Given the description of an element on the screen output the (x, y) to click on. 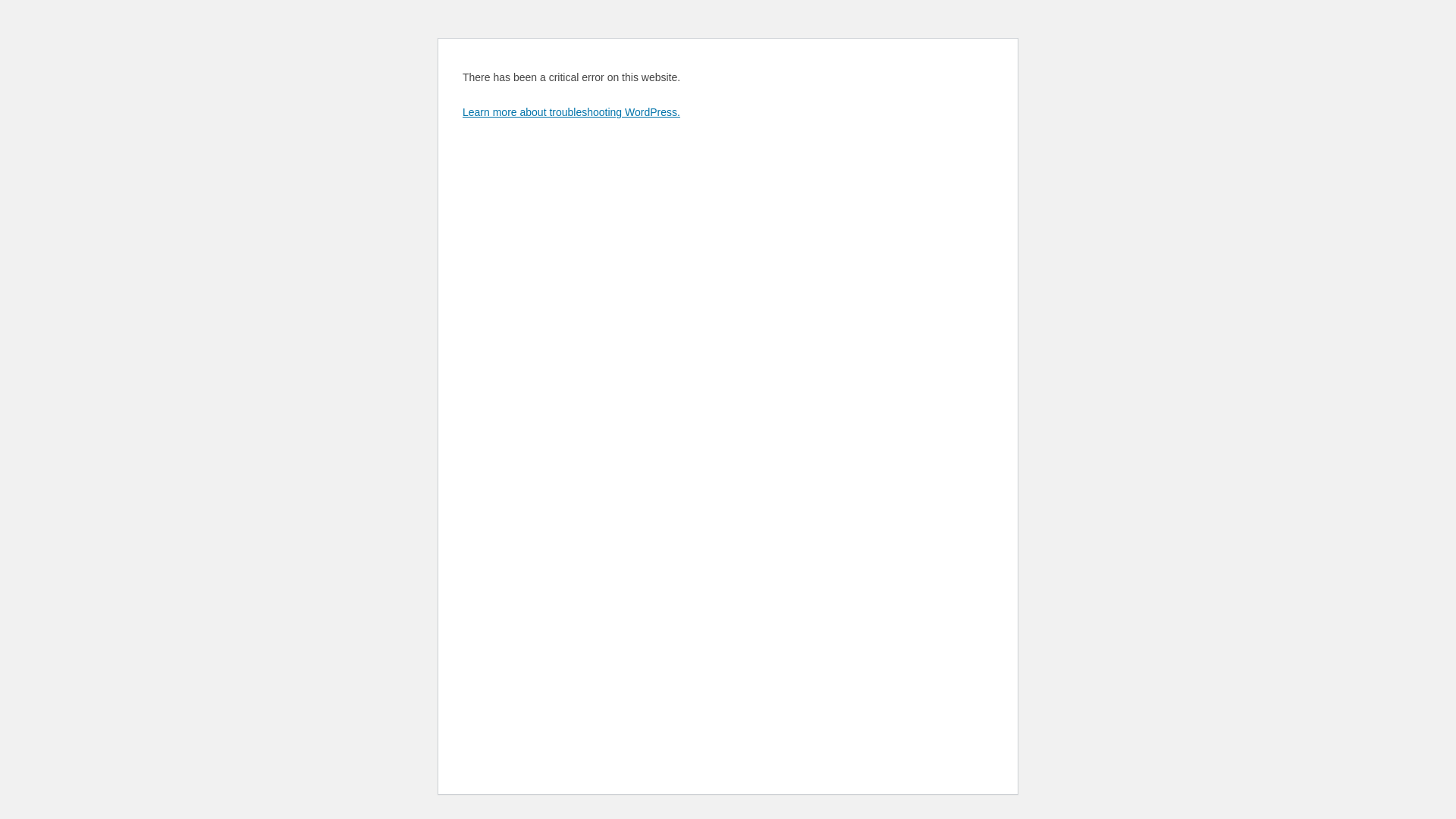
Learn more about troubleshooting WordPress. Element type: text (571, 112)
